Given the description of an element on the screen output the (x, y) to click on. 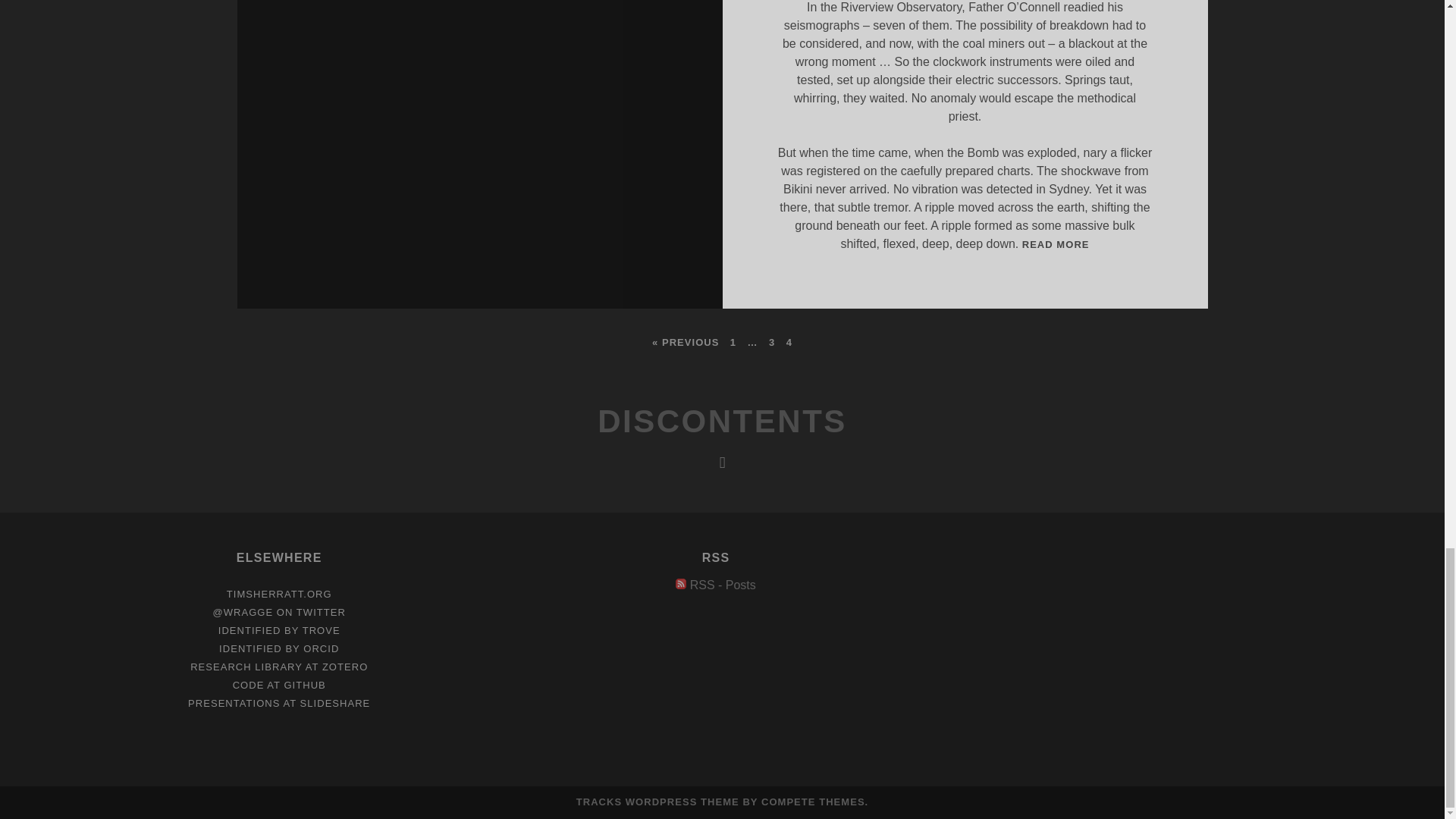
RSS - Posts (722, 584)
CODE (248, 685)
RESEARCH LIBRARY (246, 666)
PRESENTATIONS (233, 703)
TIMSHERRATT.ORG (279, 593)
IDENTIFIED (1055, 244)
Subscribe to Posts (249, 630)
DISCONTENTS (722, 584)
TRACKS WORDPRESS THEME (721, 420)
IDENTIFIED (657, 801)
